Given the description of an element on the screen output the (x, y) to click on. 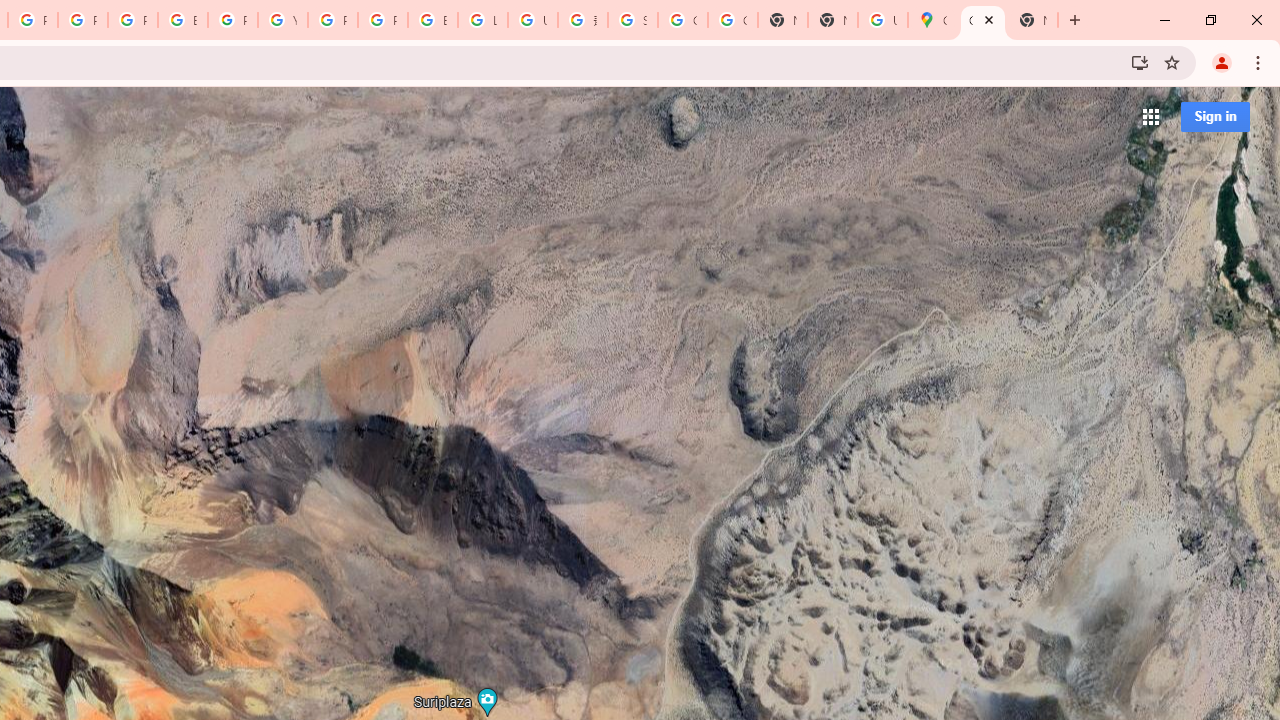
Privacy Help Center - Policies Help (132, 20)
Google Maps (932, 20)
Google Maps (982, 20)
Install Google Maps (1139, 62)
Privacy Help Center - Policies Help (82, 20)
Use Google Maps in Space - Google Maps Help (882, 20)
Sign in - Google Accounts (632, 20)
